Given the description of an element on the screen output the (x, y) to click on. 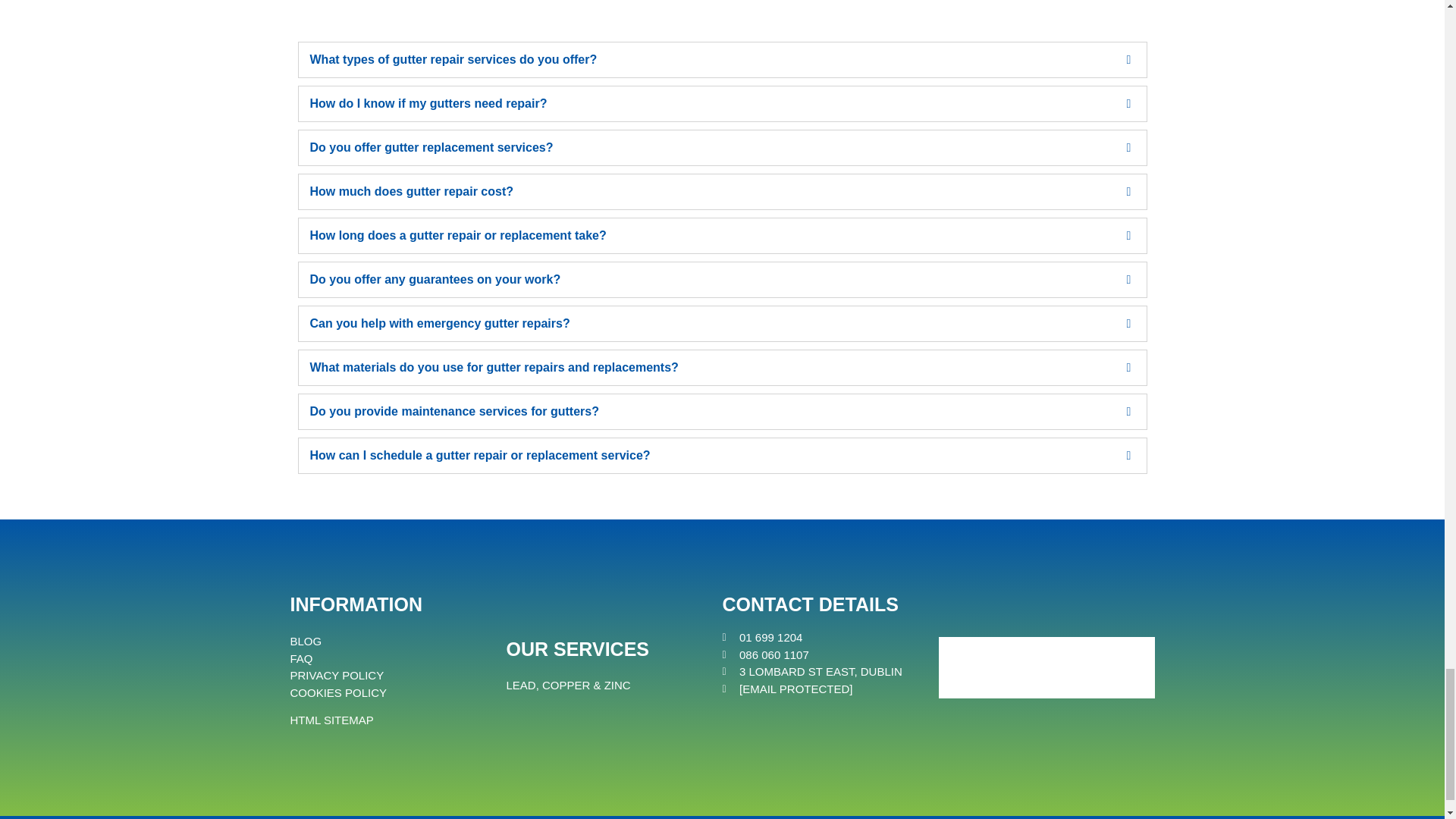
Privacy Policy (336, 675)
